Given the description of an element on the screen output the (x, y) to click on. 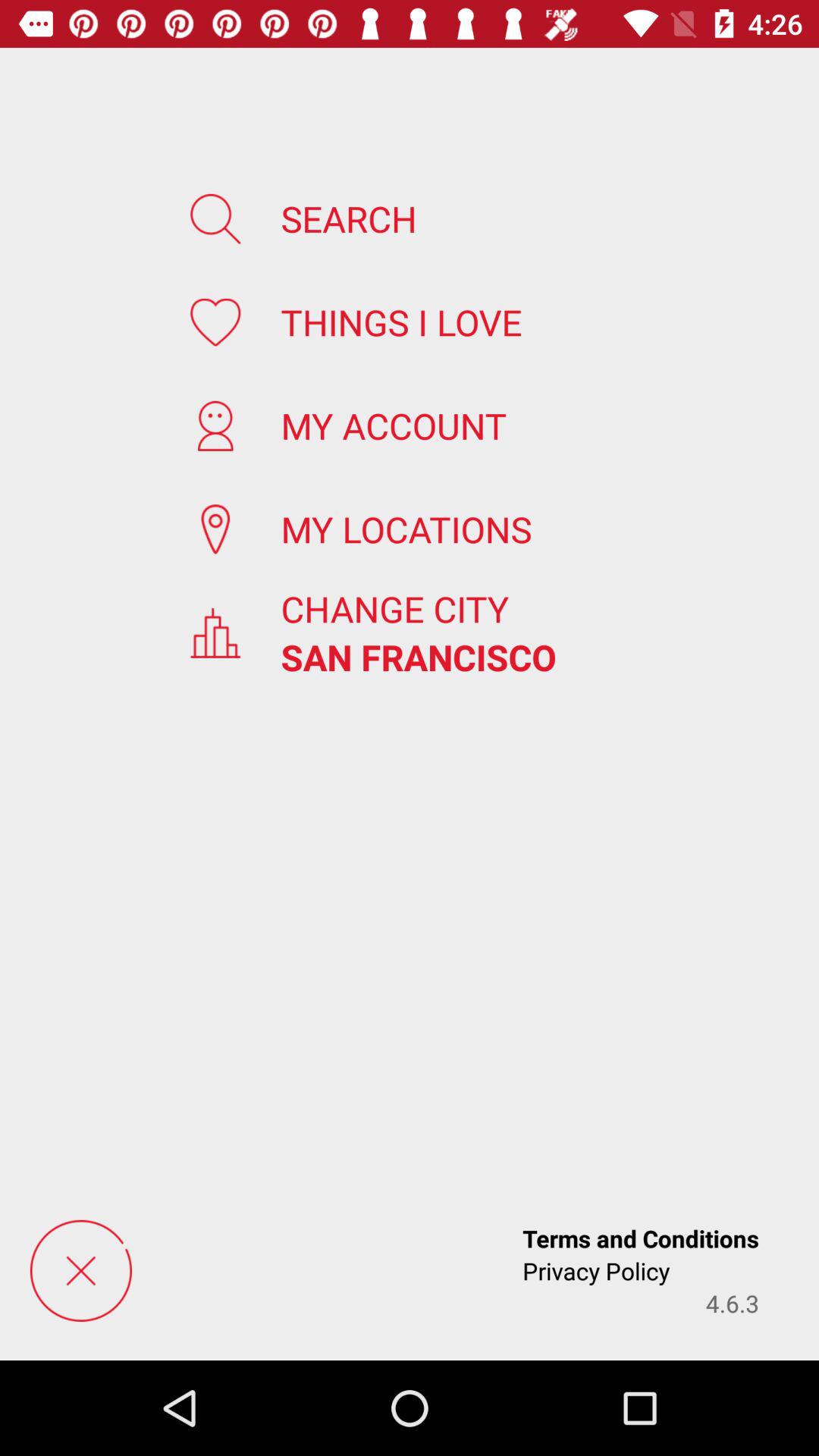
tap the icon to the left of 4.6.3 app (595, 1270)
